Given the description of an element on the screen output the (x, y) to click on. 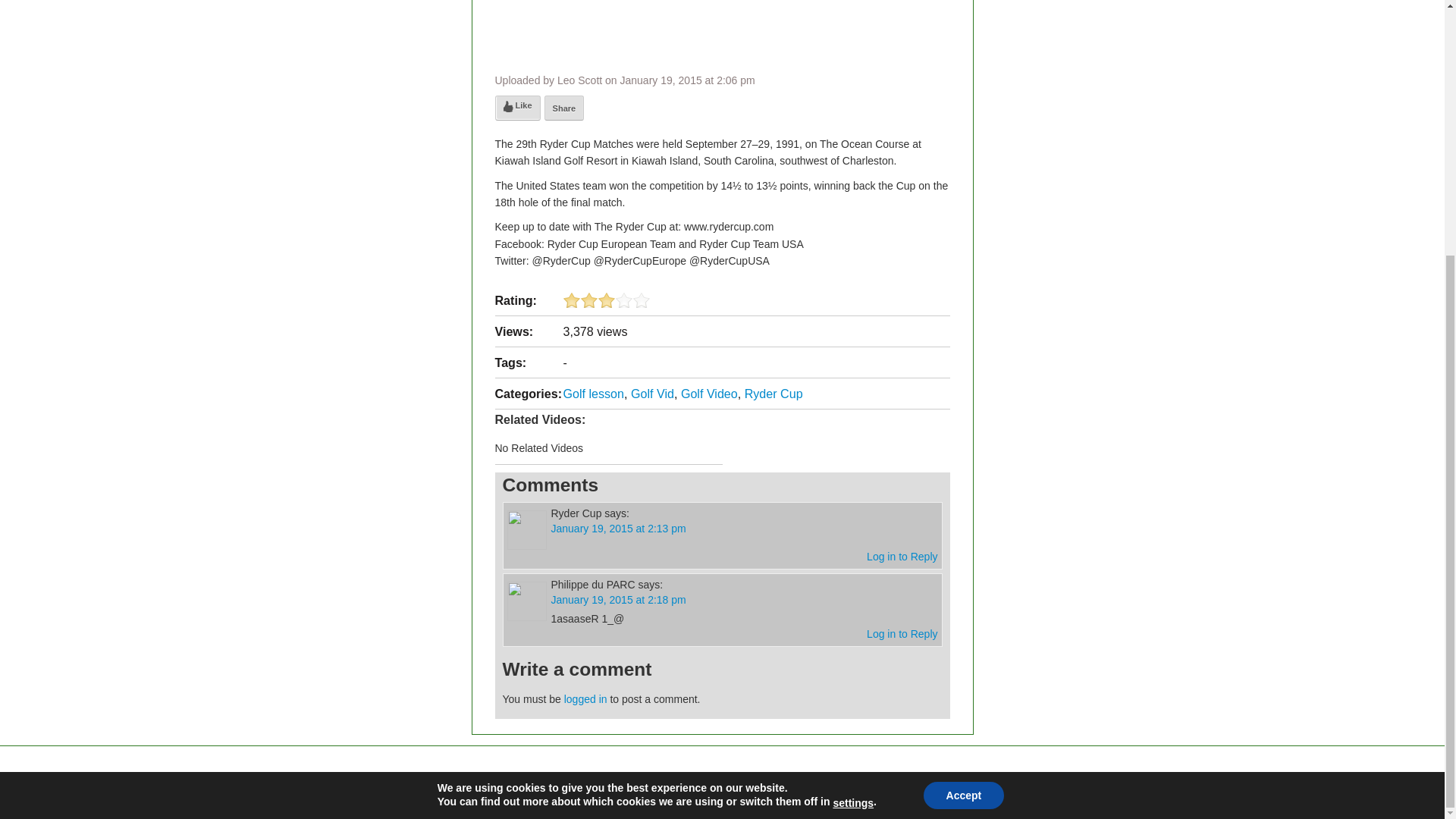
Ryder Cup (773, 393)
Golf Vid (652, 393)
Share it with your friends (564, 107)
logged in (585, 698)
Log in to Reply (901, 633)
Golf Video (709, 393)
January 19, 2015 at 2:13 pm (617, 528)
Golf lesson (593, 393)
settings (852, 440)
January 19, 2015 at 2:18 pm (617, 599)
